Given the description of an element on the screen output the (x, y) to click on. 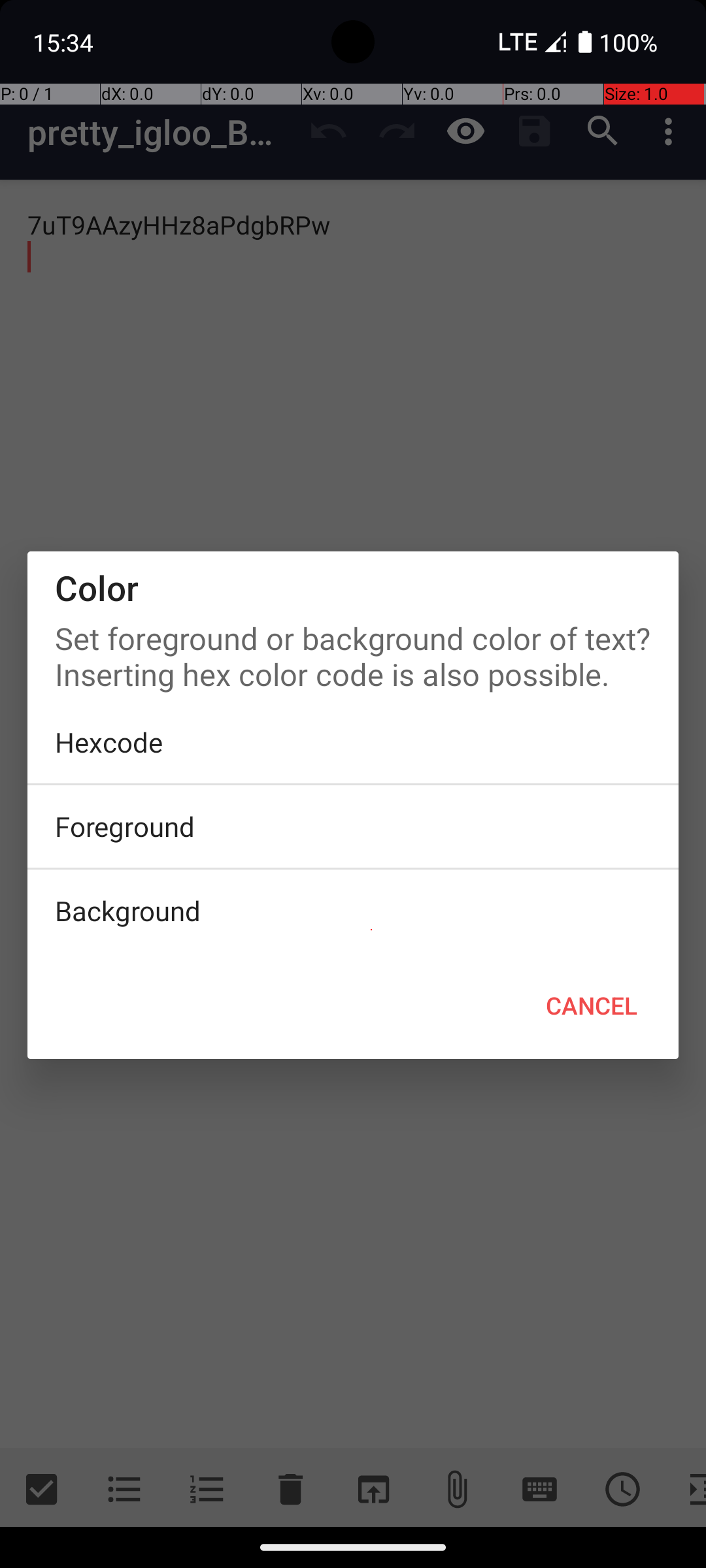
Set foreground or background color of text? Inserting hex color code is also possible. Element type: android.widget.TextView (352, 652)
Hexcode Element type: android.widget.TextView (352, 742)
Foreground Element type: android.widget.TextView (352, 826)
Background Element type: android.widget.TextView (352, 910)
